Given the description of an element on the screen output the (x, y) to click on. 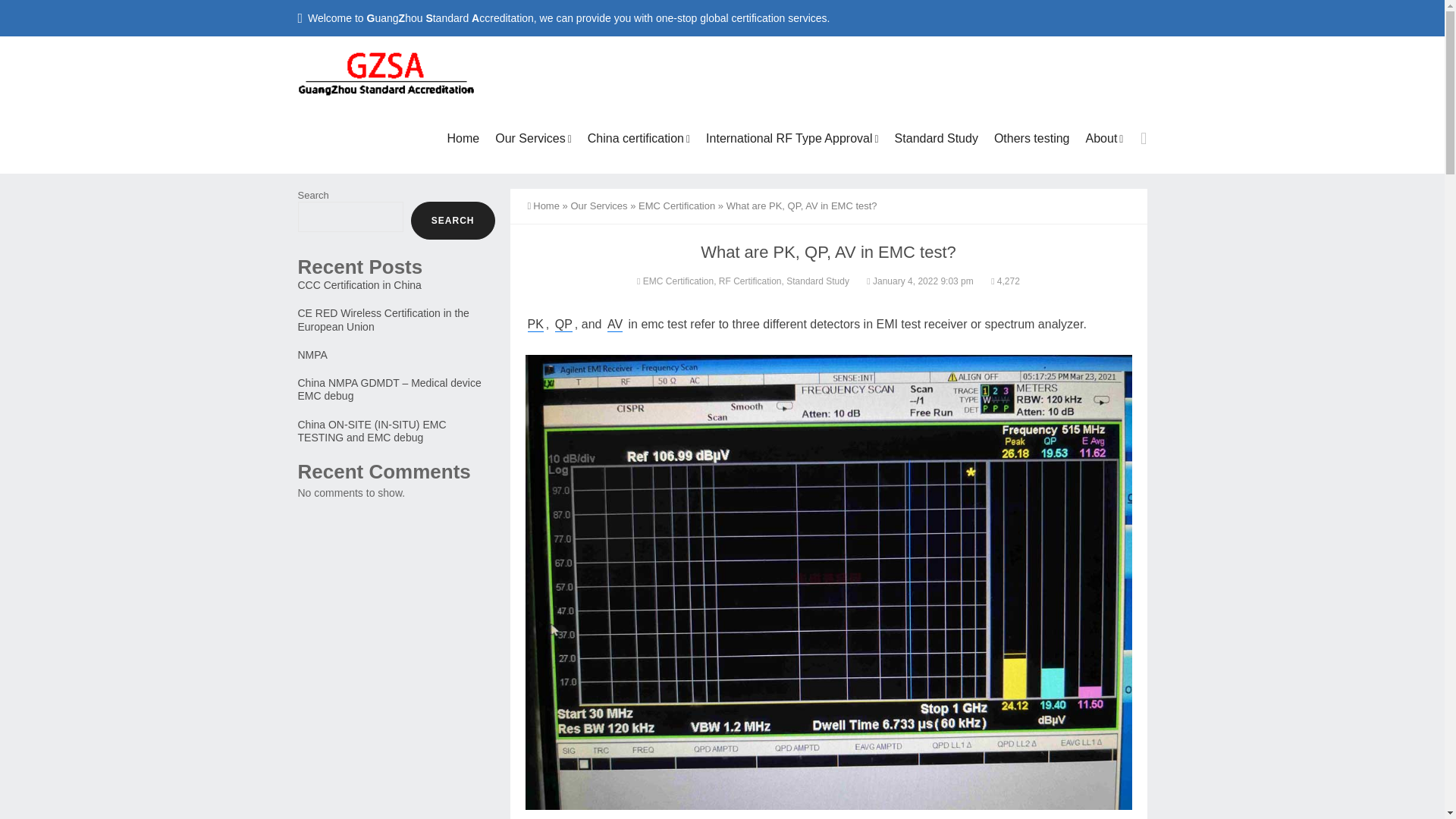
Standard Study (936, 138)
International RF Type Approval (792, 138)
China certification (637, 138)
PK (535, 324)
QP (563, 324)
Others testing (1031, 138)
Search (1116, 134)
AV (615, 324)
Our Services (533, 138)
